Given the description of an element on the screen output the (x, y) to click on. 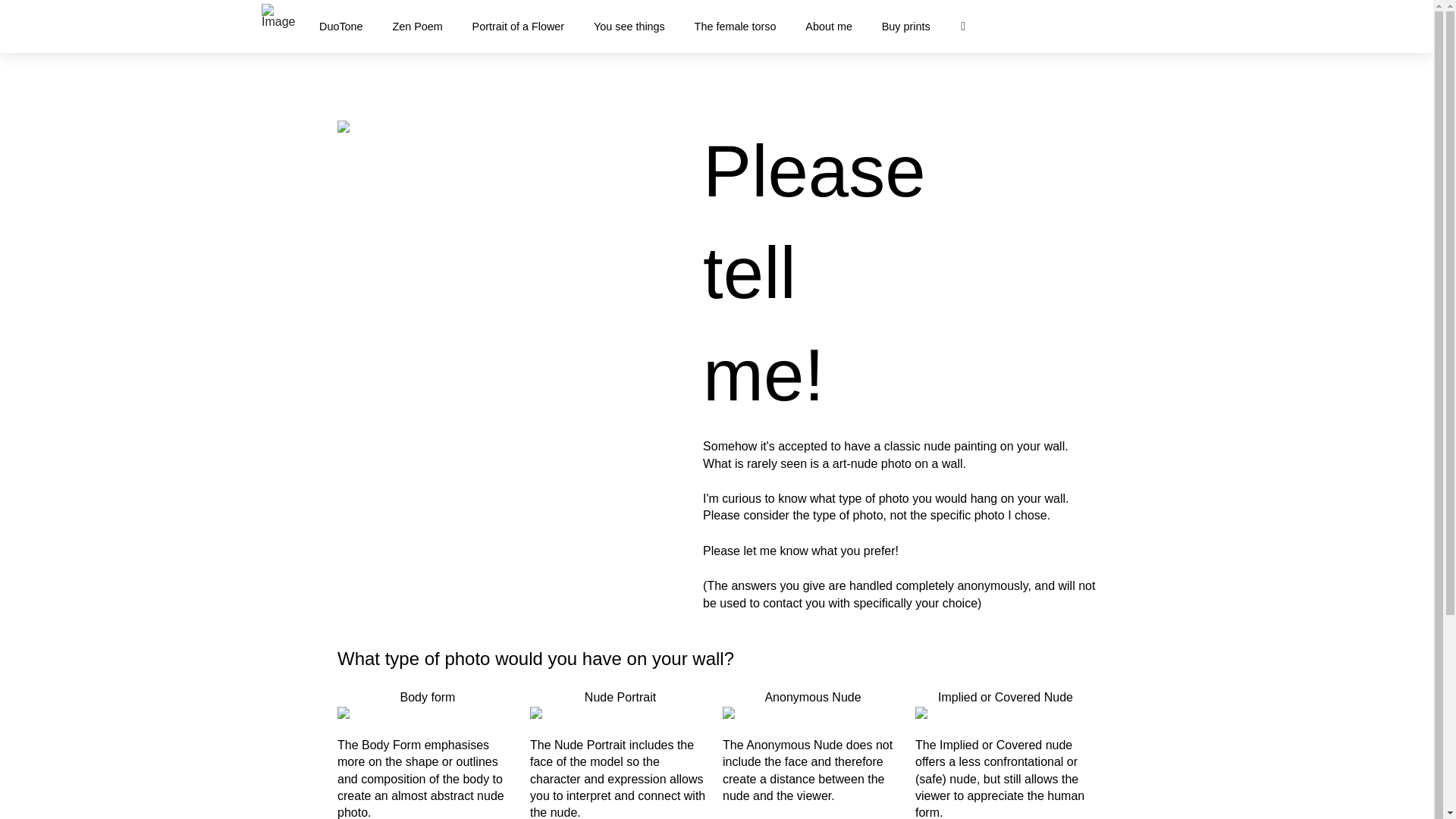
Buy prints (905, 26)
Portrait of a Flower (517, 26)
DuoTone (340, 26)
Zen Poem (417, 26)
You see things (629, 26)
About me (828, 26)
The female torso (734, 26)
